Given the description of an element on the screen output the (x, y) to click on. 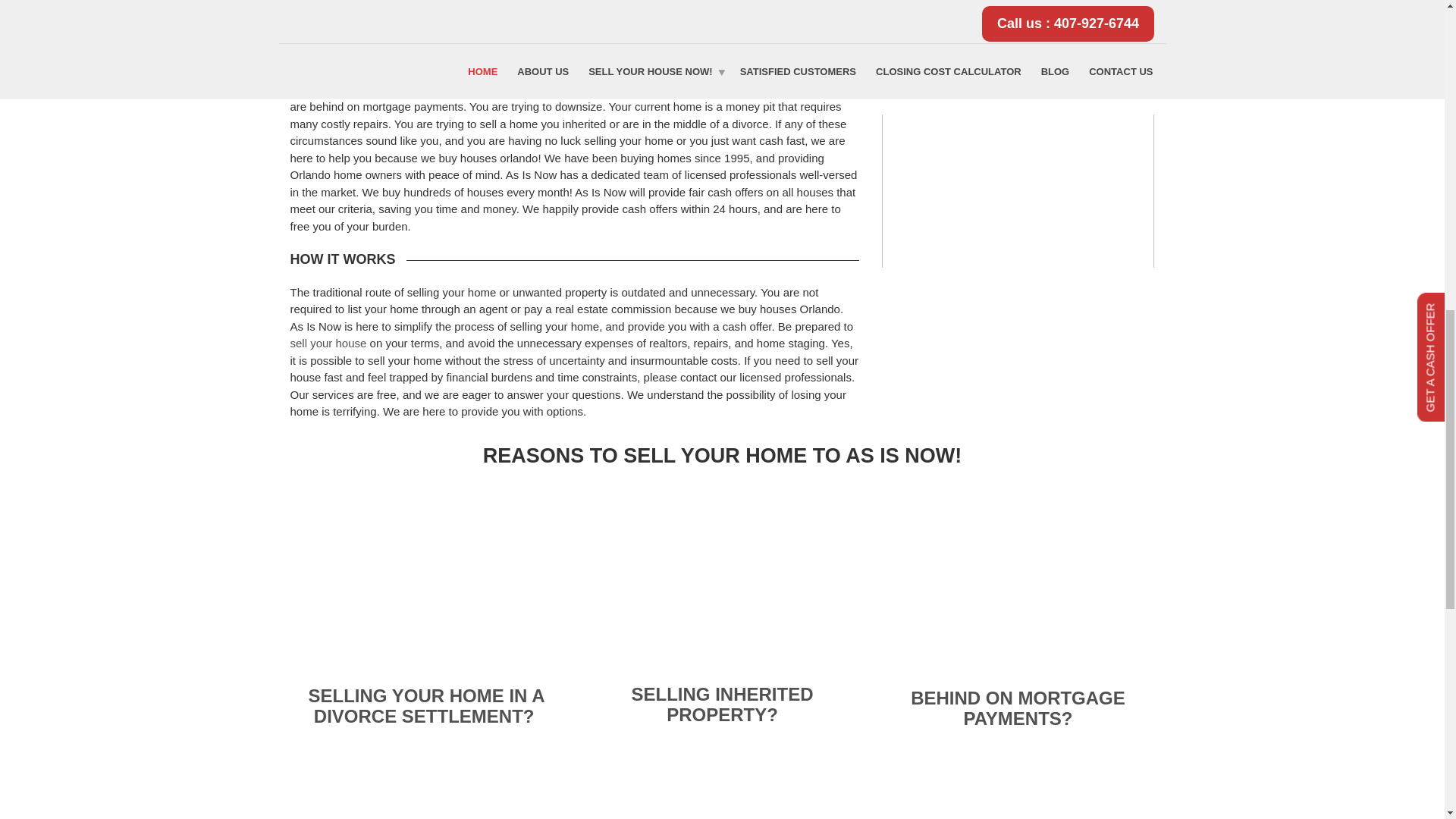
BEHIND ON MORTGAGE PAYMENTS? (1018, 707)
sell your house (327, 342)
SELLING YOUR HOME IN A DIVORCE SETTLEMENT? (425, 705)
SELLING INHERITED PROPERTY? (721, 703)
